Given the description of an element on the screen output the (x, y) to click on. 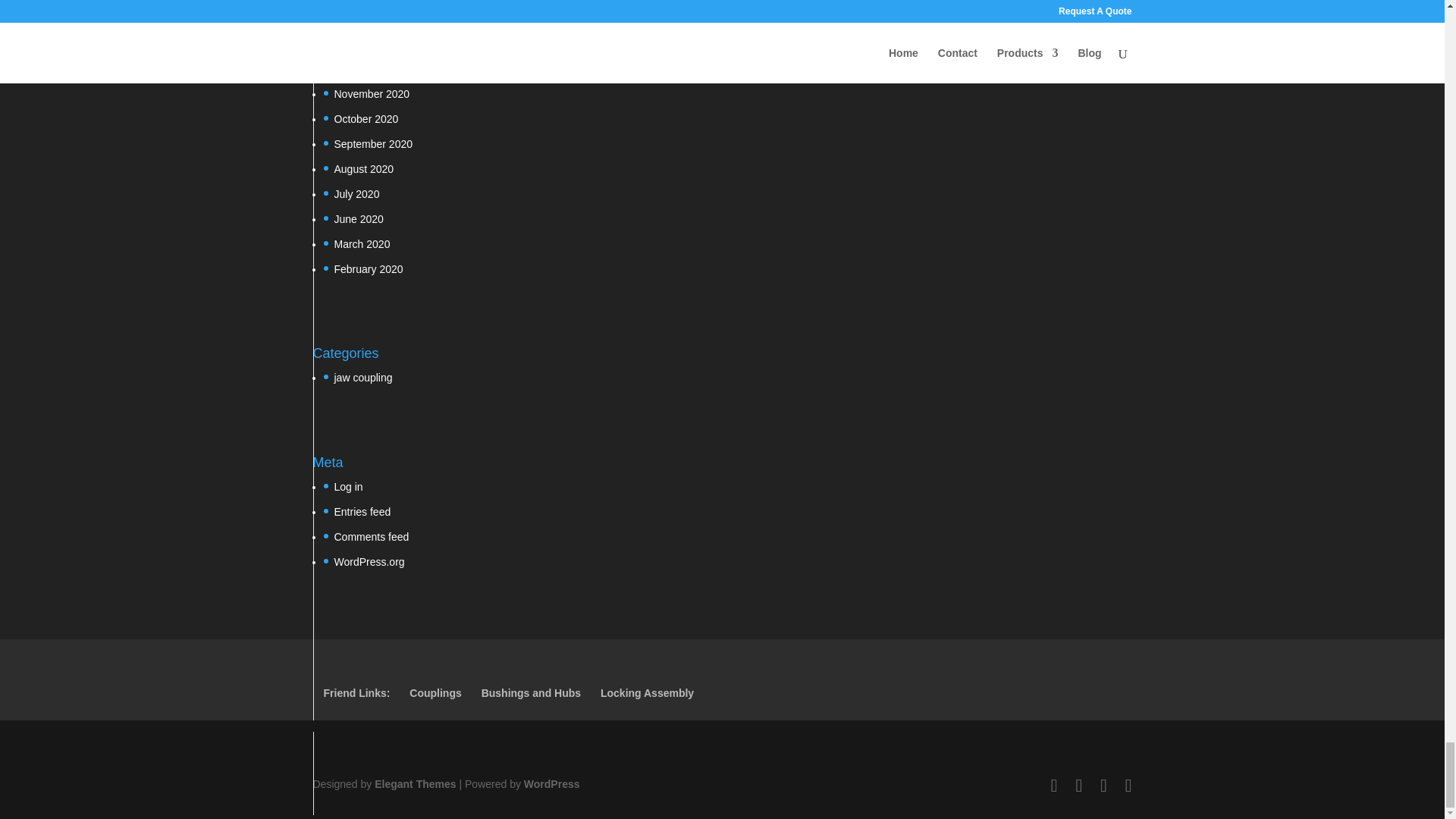
Premium WordPress Themes (414, 784)
